Given the description of an element on the screen output the (x, y) to click on. 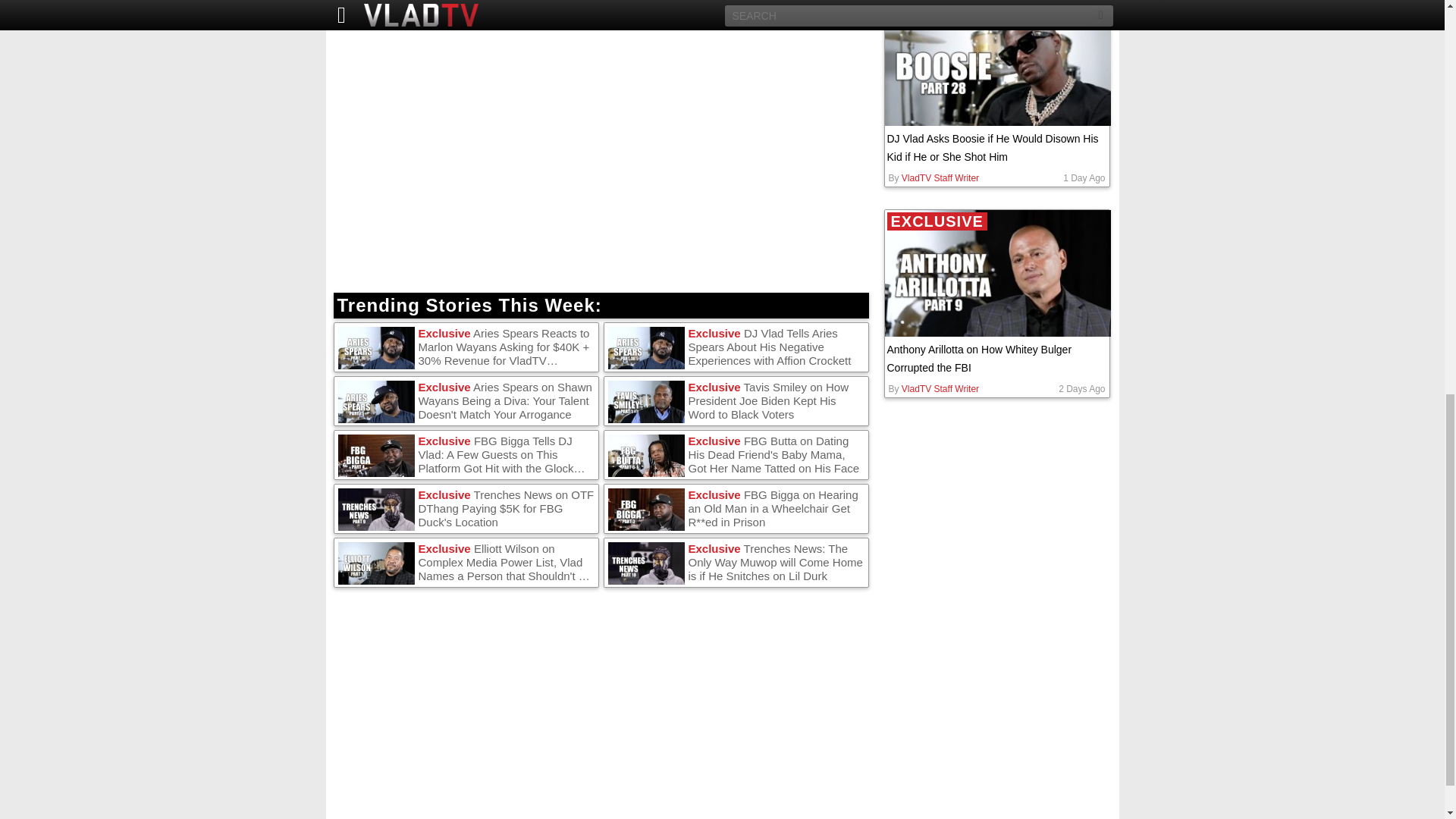
Instagram (450, 7)
